Given the description of an element on the screen output the (x, y) to click on. 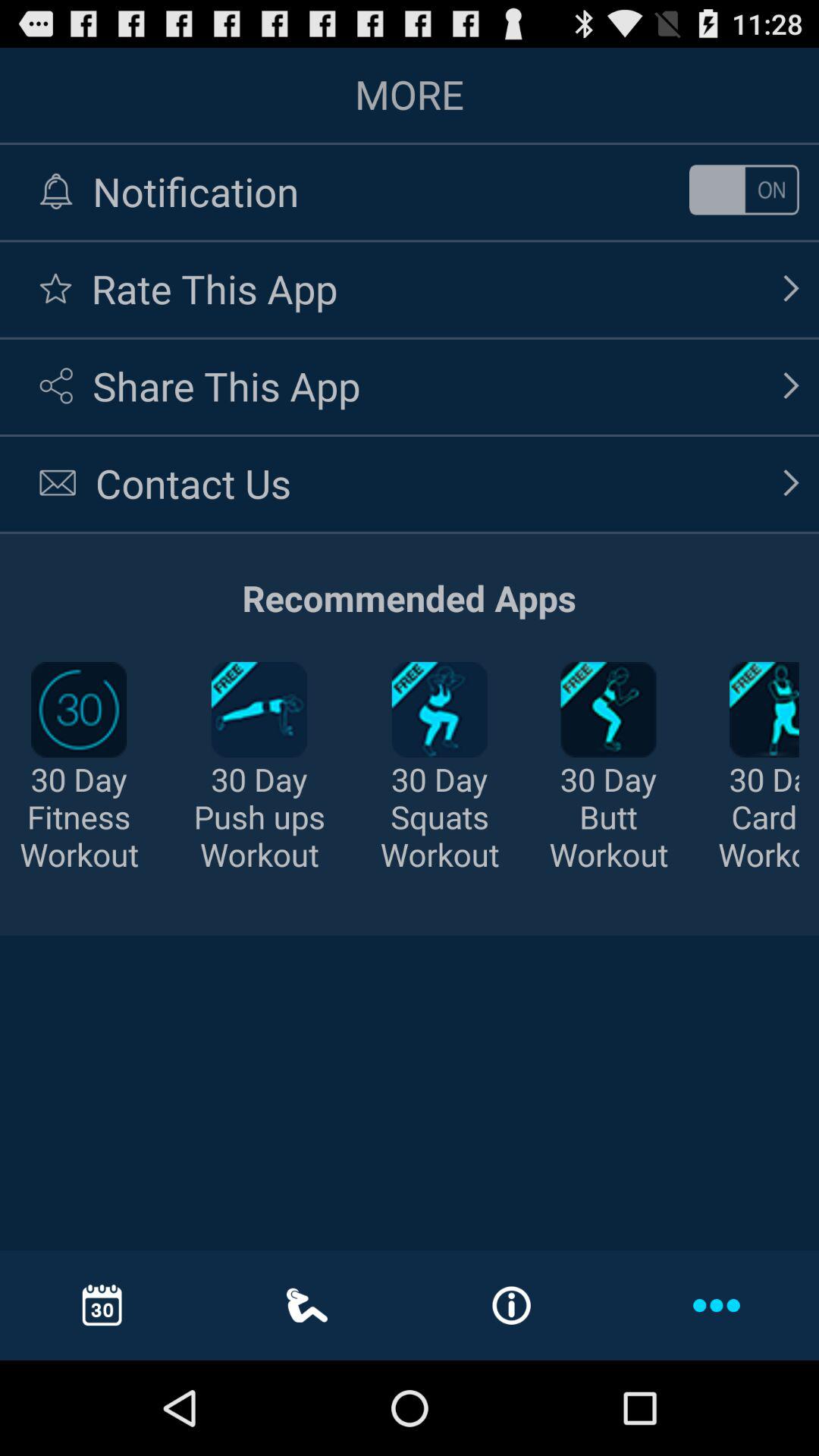
turn on the item to the right of the notification (744, 189)
